Given the description of an element on the screen output the (x, y) to click on. 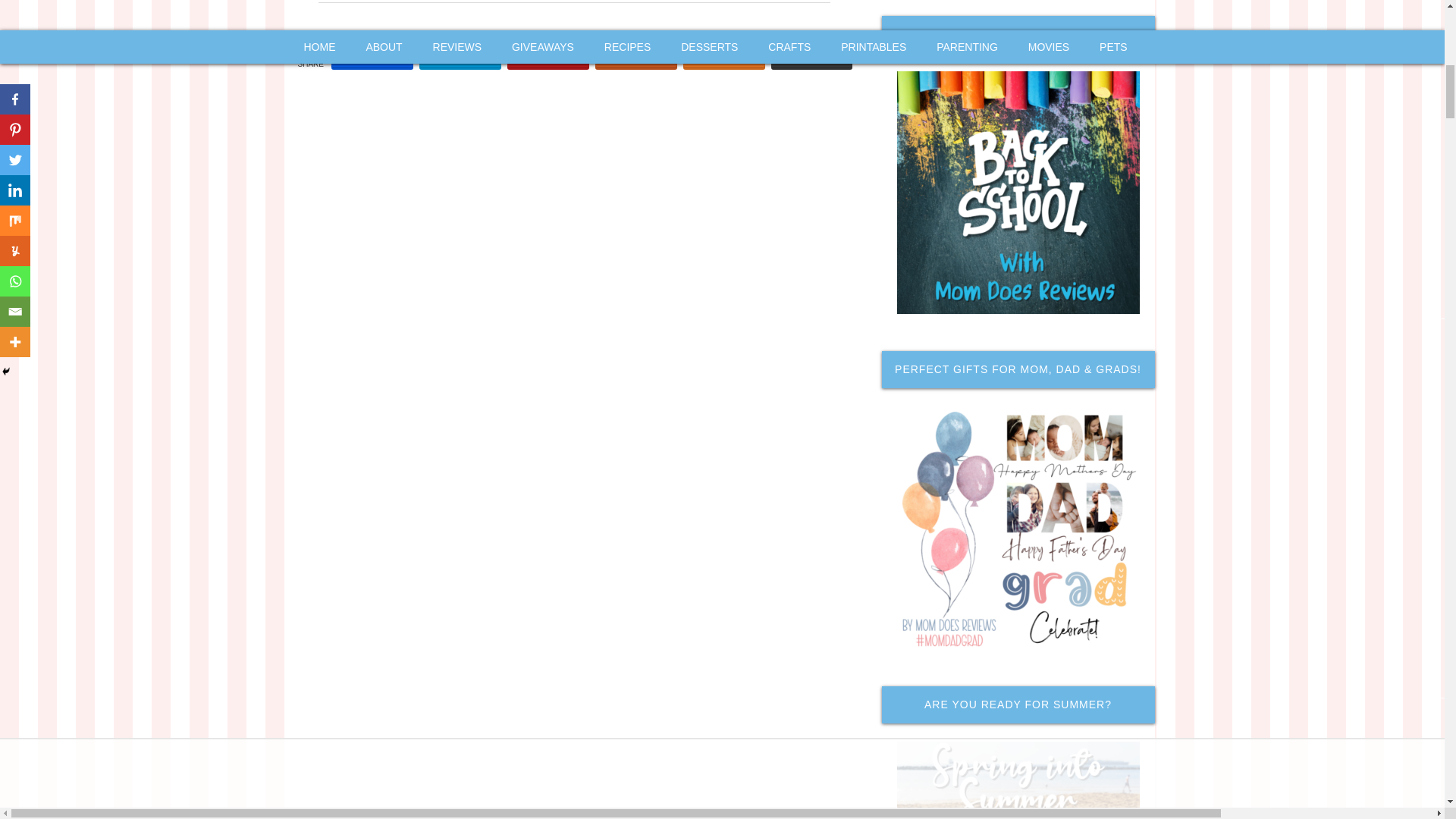
Share on Facebook (372, 56)
Facebook (372, 56)
